Given the description of an element on the screen output the (x, y) to click on. 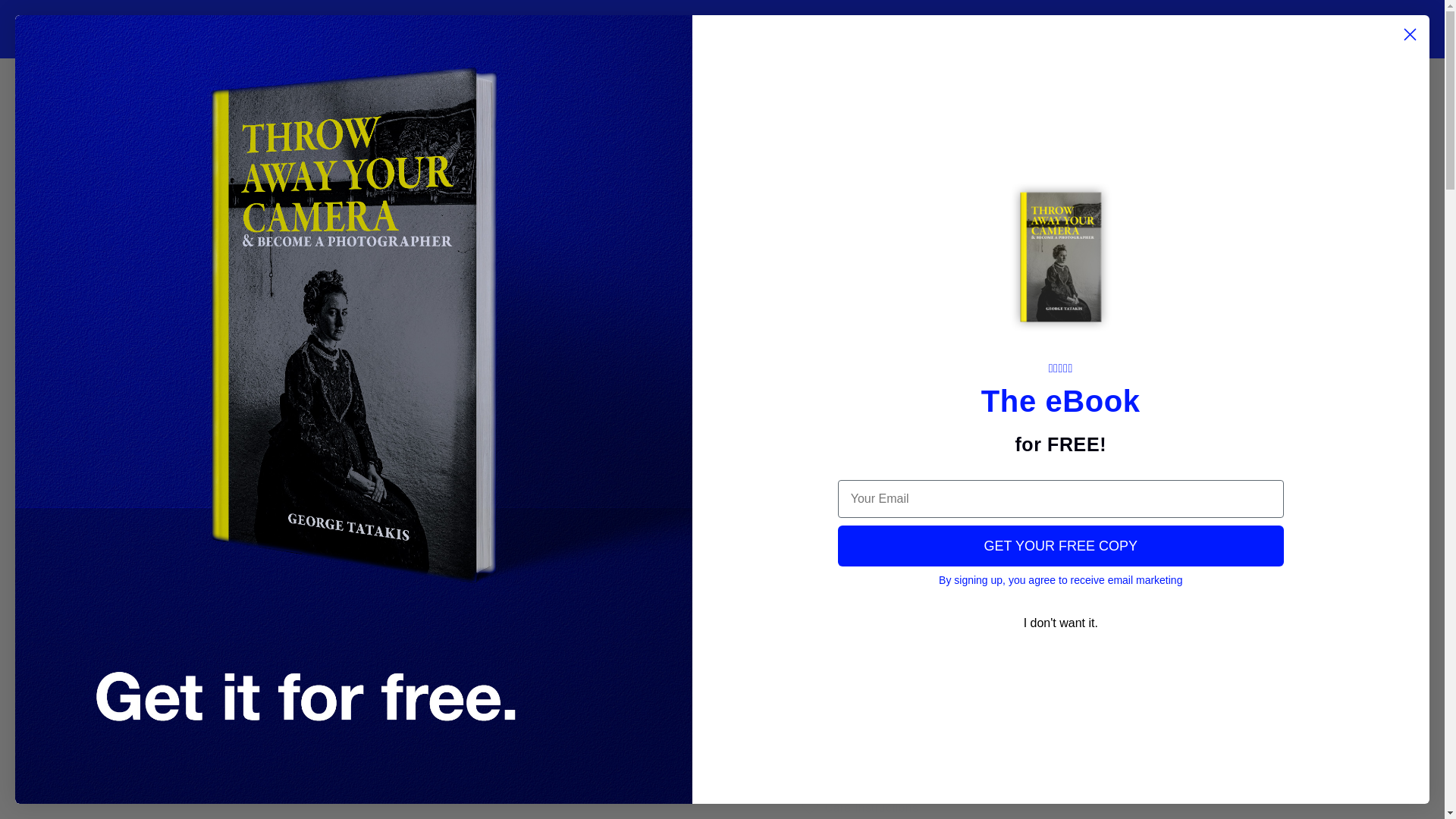
Home (320, 87)
1 (856, 590)
CONTACT (616, 29)
Log in (1091, 28)
Skip to content (45, 16)
Cart (1124, 28)
ABOUT (552, 29)
